Given the description of an element on the screen output the (x, y) to click on. 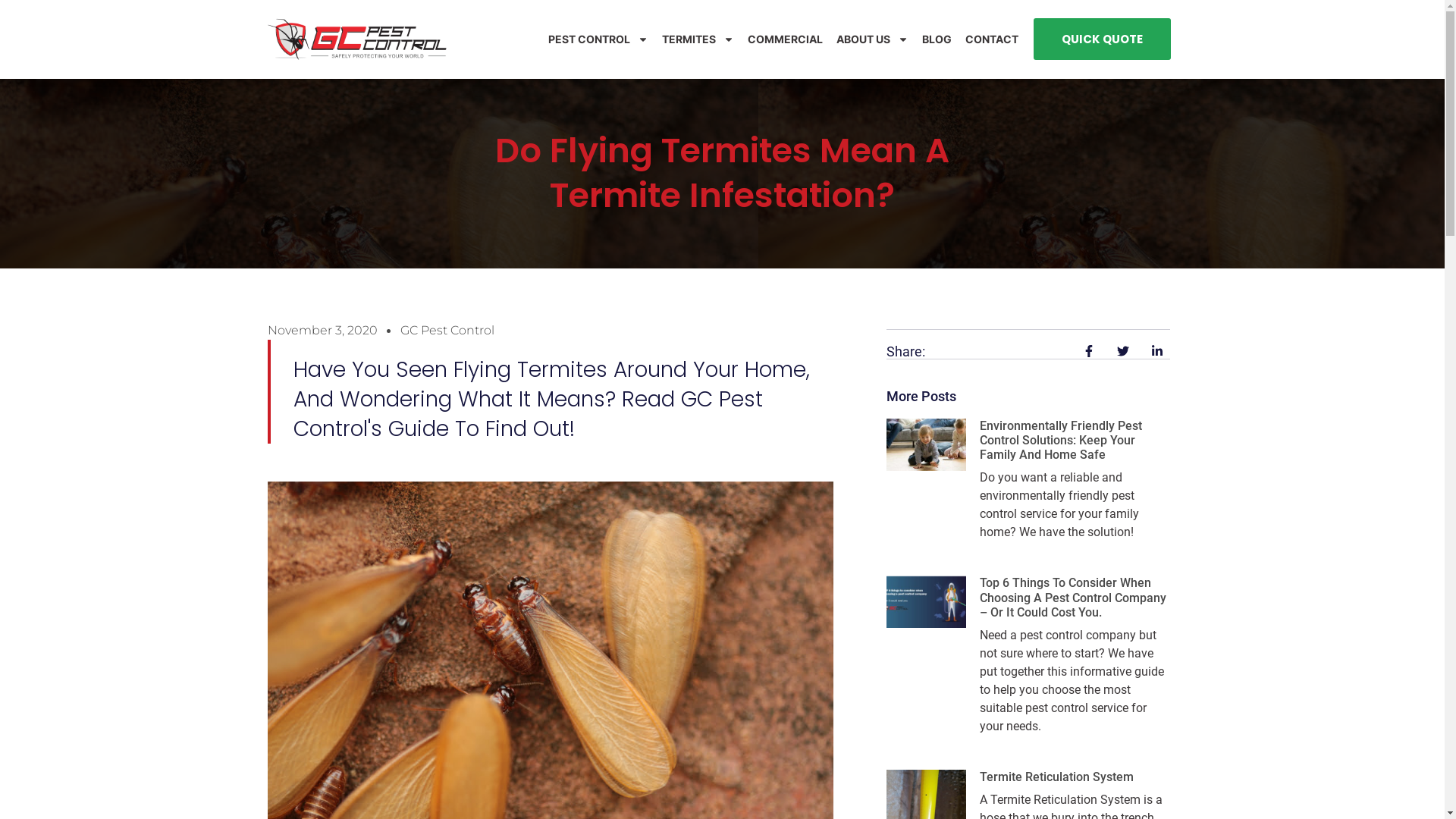
COMMERCIAL Element type: text (784, 38)
TERMITES Element type: text (698, 38)
QUICK QUOTE Element type: text (1101, 38)
November 3, 2020 Element type: text (321, 330)
BLOG Element type: text (936, 38)
Termite Reticulation System Element type: text (1056, 776)
ABOUT US Element type: text (872, 38)
PEST CONTROL Element type: text (598, 38)
CONTACT Element type: text (991, 38)
GC Pest Control Element type: text (447, 330)
